Given the description of an element on the screen output the (x, y) to click on. 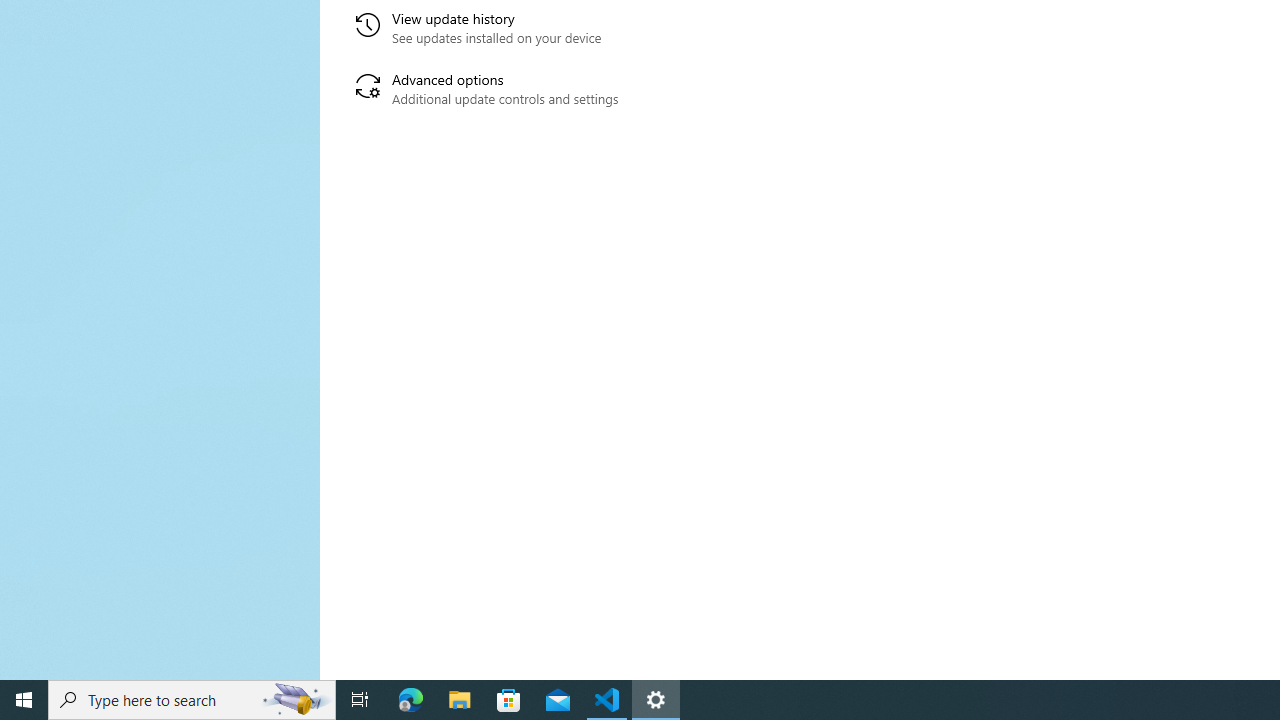
Type here to search (191, 699)
Search highlights icon opens search home window (295, 699)
Settings - 1 running window (656, 699)
Microsoft Edge (411, 699)
Start (24, 699)
Microsoft Store (509, 699)
File Explorer (460, 699)
Advanced options (566, 89)
Task View (359, 699)
Visual Studio Code - 1 running window (607, 699)
